Given the description of an element on the screen output the (x, y) to click on. 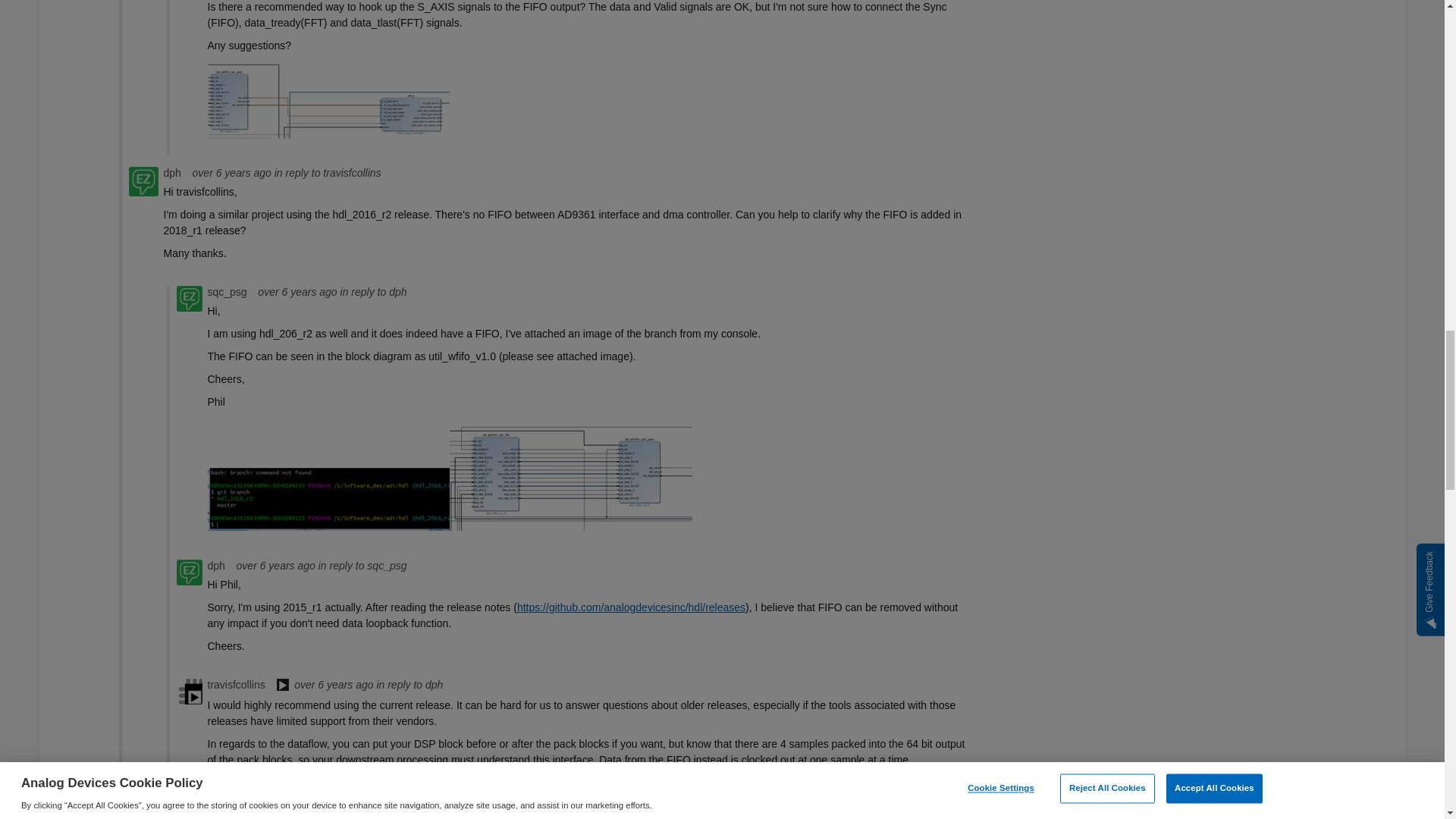
Analog Employees (282, 685)
